Given the description of an element on the screen output the (x, y) to click on. 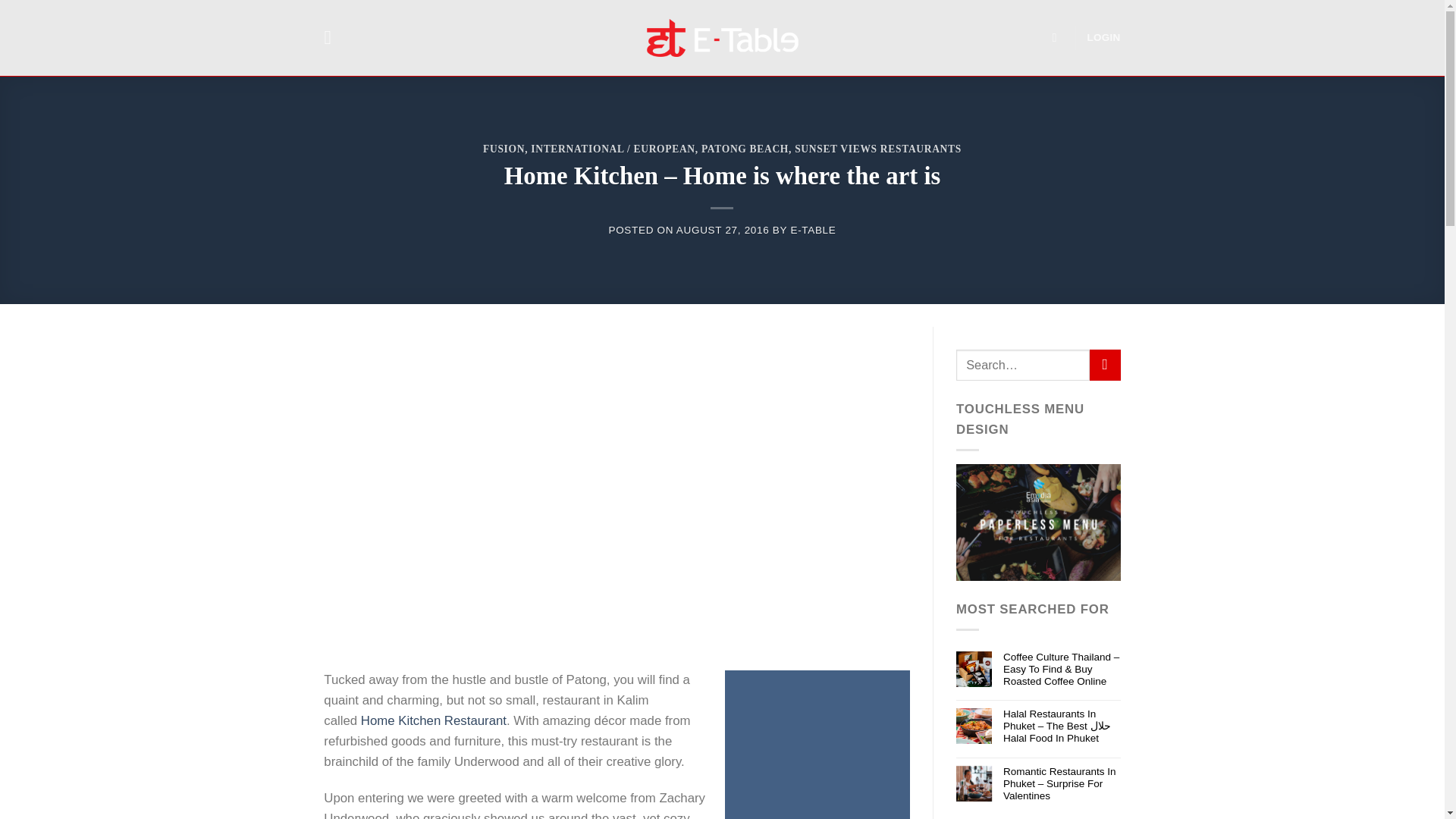
E-TABLE (812, 229)
LOGIN (1104, 38)
Home Kitchen Restaurant (433, 720)
PATONG BEACH (745, 148)
SUNSET VIEWS RESTAURANTS (877, 148)
AUGUST 27, 2016 (723, 229)
FUSION (503, 148)
